Given the description of an element on the screen output the (x, y) to click on. 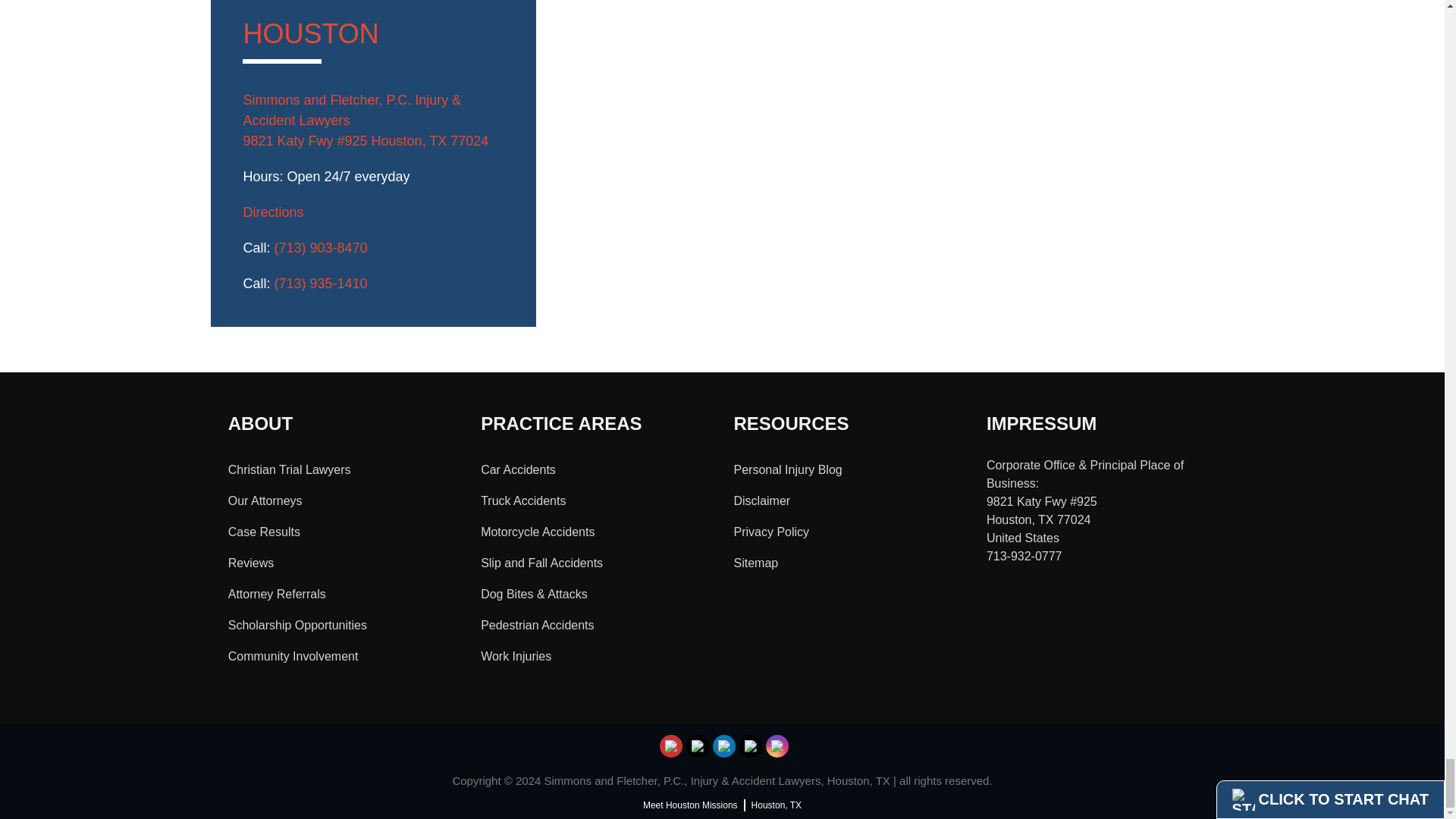
Tiktok (697, 746)
LinkedIn (723, 746)
Instagram (777, 746)
YouTube (671, 746)
